Given the description of an element on the screen output the (x, y) to click on. 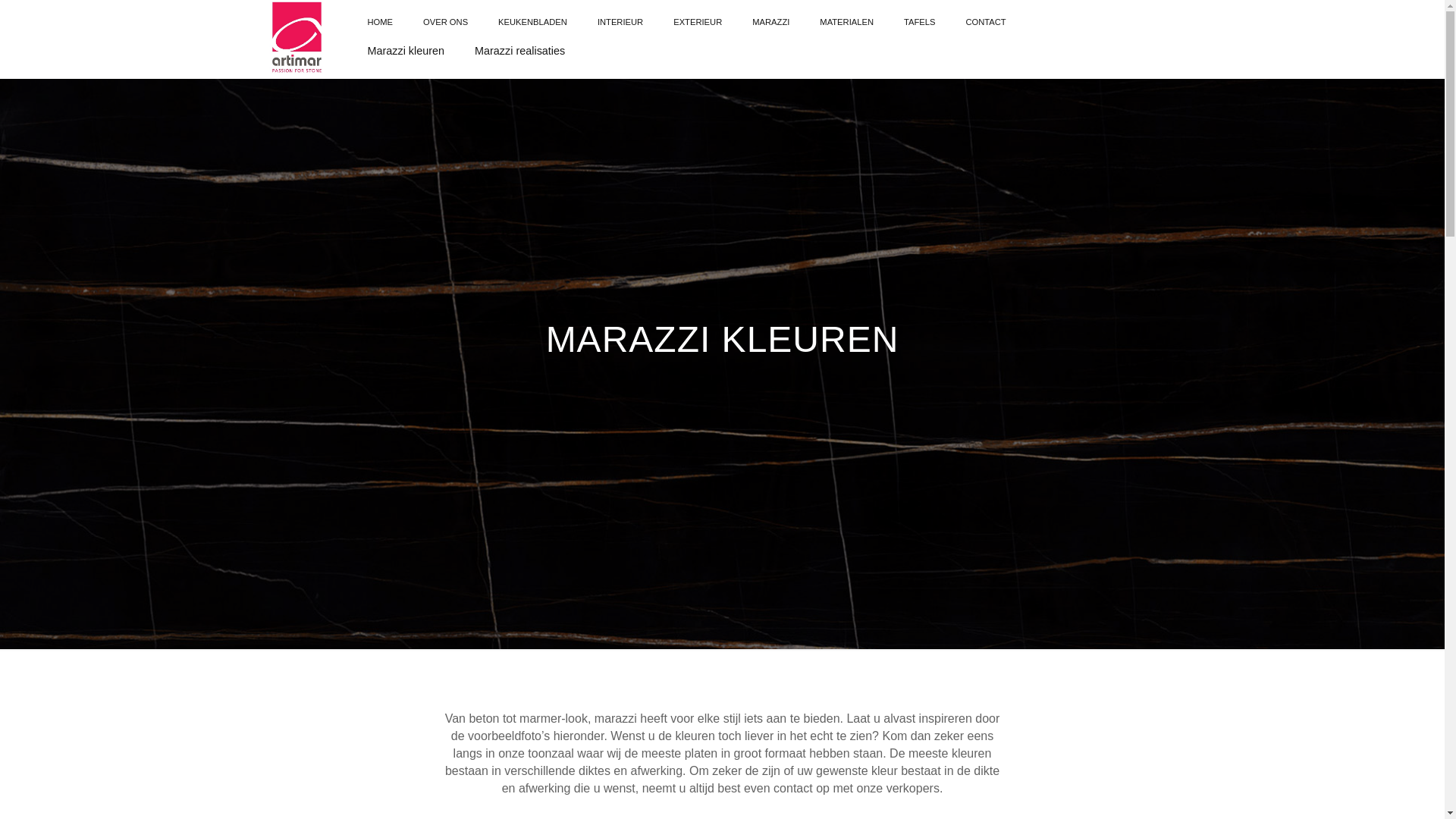
Marazzi kleuren Element type: text (405, 50)
OVER ONS Element type: text (445, 21)
CONTACT Element type: text (985, 21)
HOME Element type: text (379, 21)
KEUKENBLADEN Element type: text (532, 21)
MATERIALEN Element type: text (846, 21)
EXTERIEUR Element type: text (697, 21)
INTERIEUR Element type: text (620, 21)
Marazzi realisaties Element type: text (519, 50)
TAFELS Element type: text (919, 21)
MARAZZI Element type: text (770, 21)
